Given the description of an element on the screen output the (x, y) to click on. 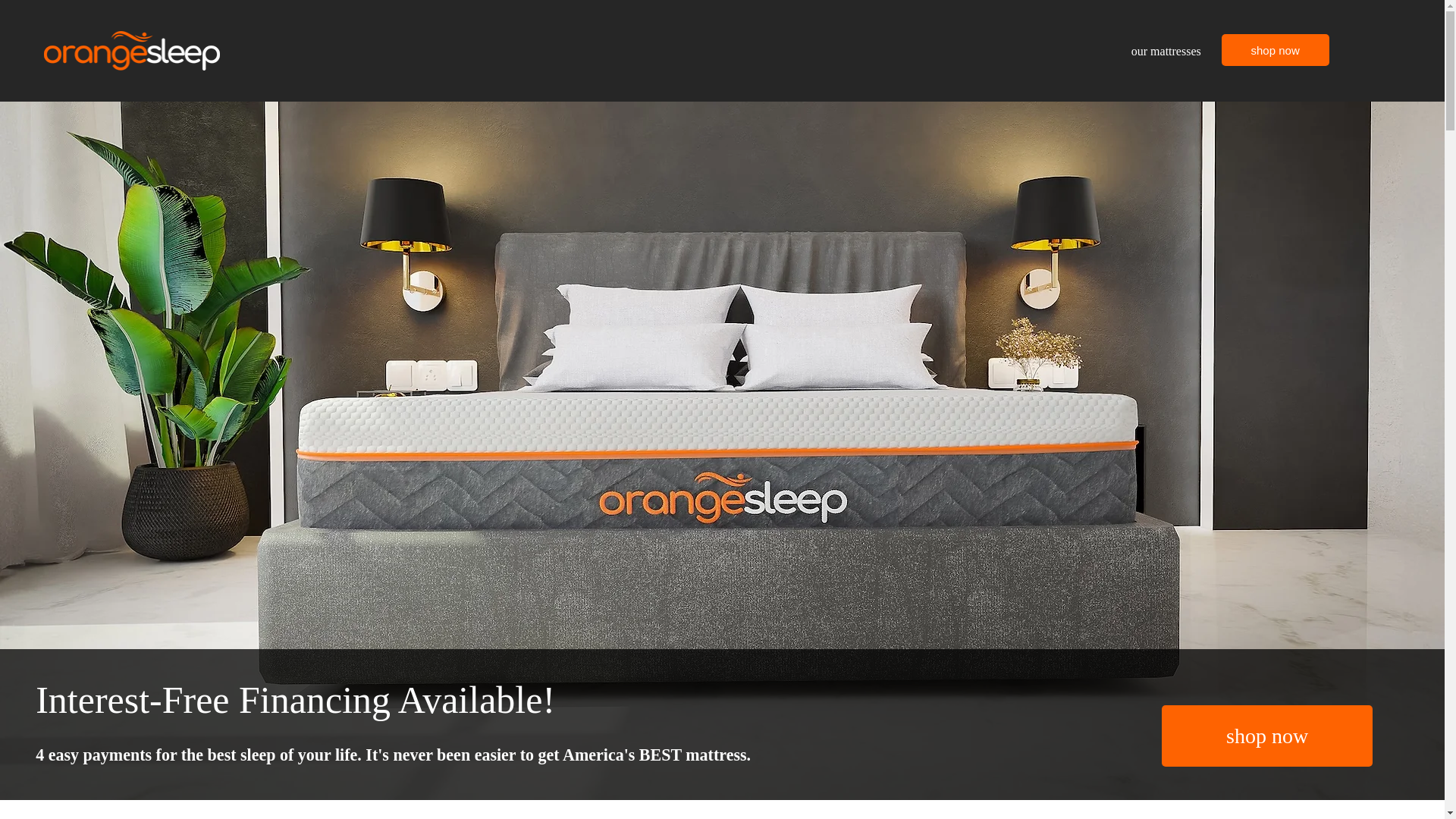
our mattresses (1165, 50)
shop now (1266, 736)
shop now (1275, 50)
